Given the description of an element on the screen output the (x, y) to click on. 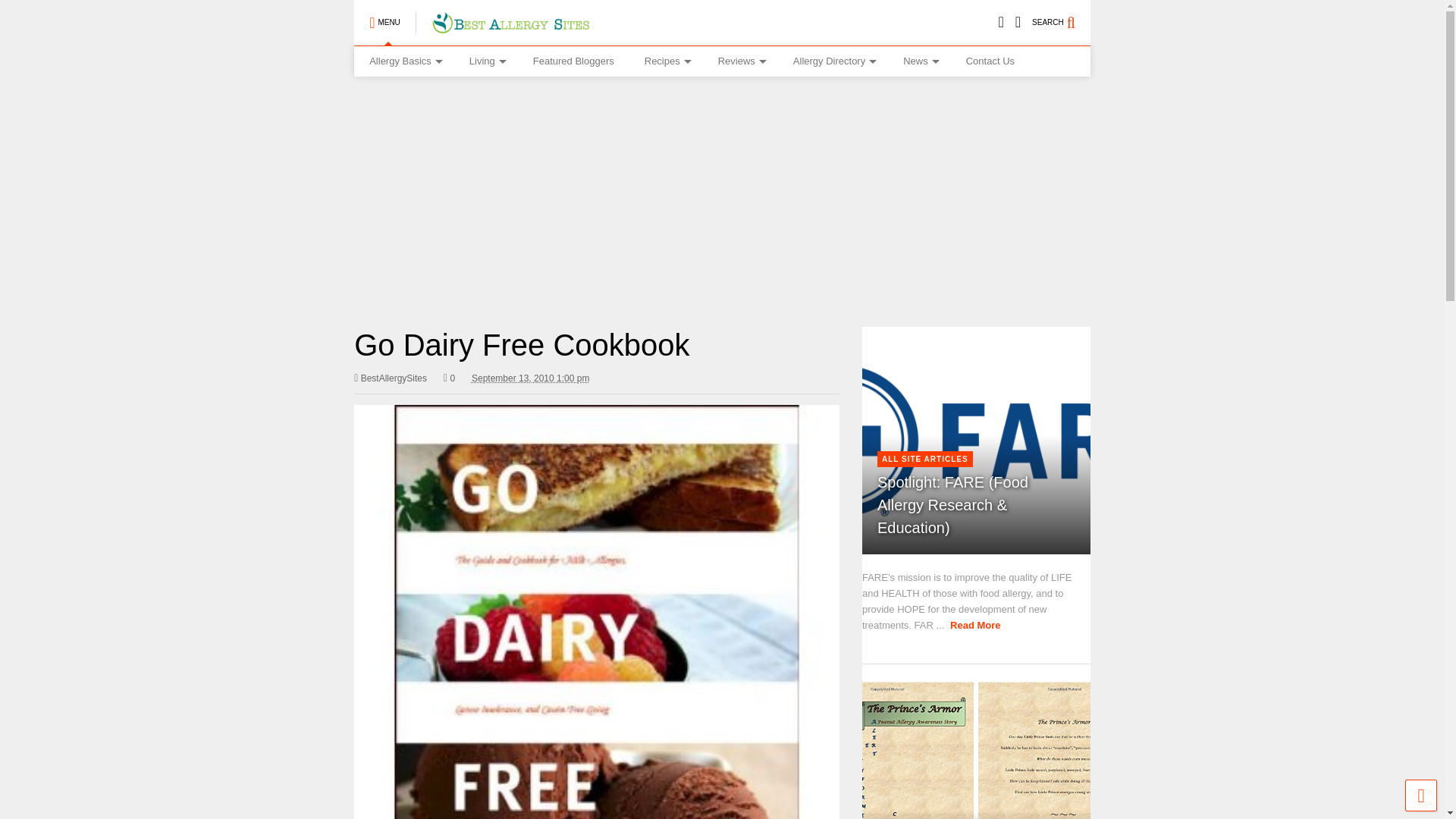
SEARCH (1061, 22)
Living (486, 60)
Contact Us (989, 60)
Allergy Basics (403, 60)
Allergy Basics (403, 60)
Featured Bloggers (573, 60)
Reviews (740, 60)
Allergy Directory (832, 60)
Recipes (665, 60)
MENU (383, 22)
